Given the description of an element on the screen output the (x, y) to click on. 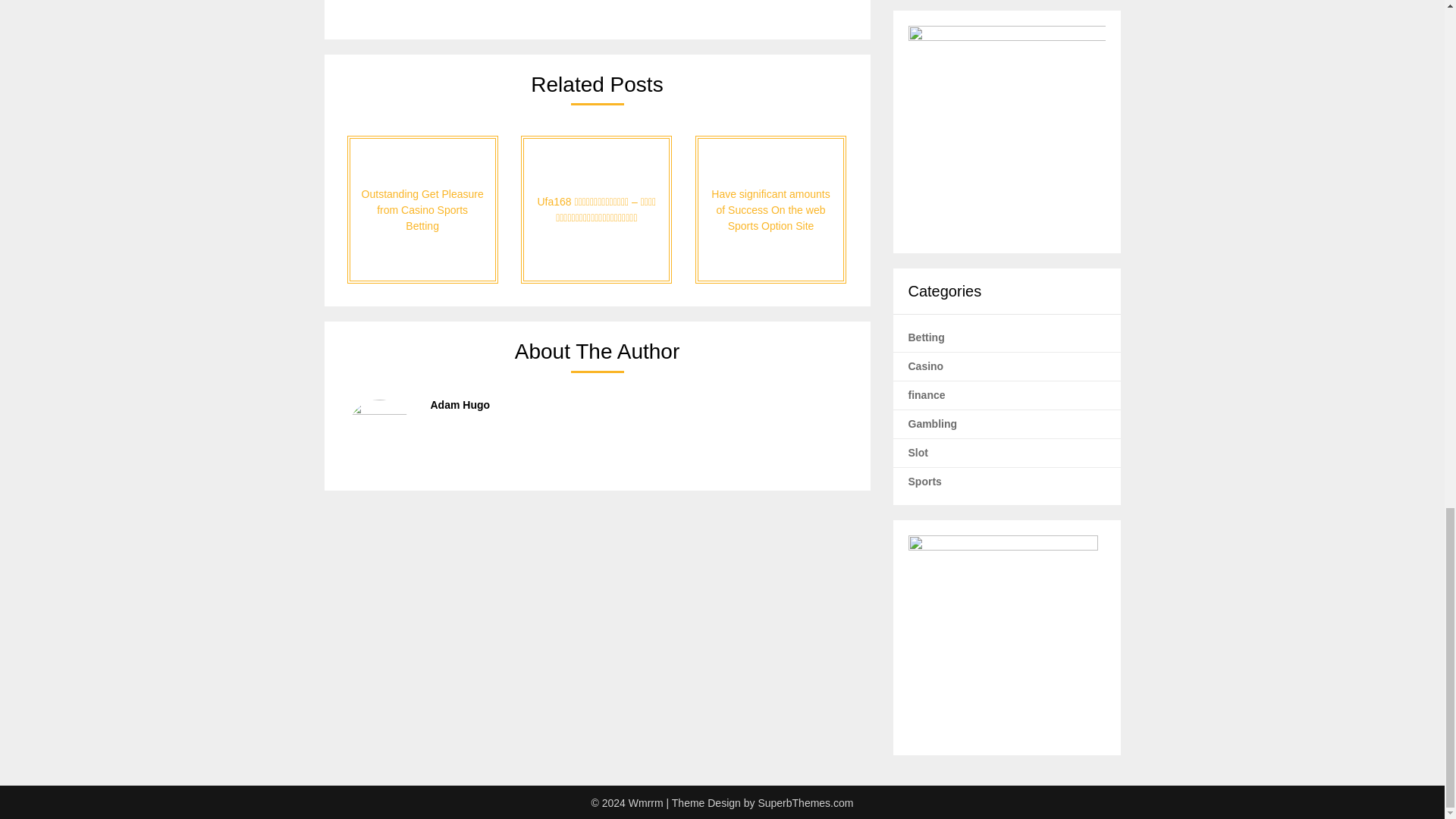
SuperbThemes.com (805, 802)
Outstanding Get Pleasure from Casino Sports Betting (422, 209)
Sports (925, 480)
Outstanding Get Pleasure from Casino Sports Betting (422, 209)
Slot (918, 451)
Betting (926, 336)
Casino (925, 365)
finance (926, 394)
Gambling (933, 422)
